Given the description of an element on the screen output the (x, y) to click on. 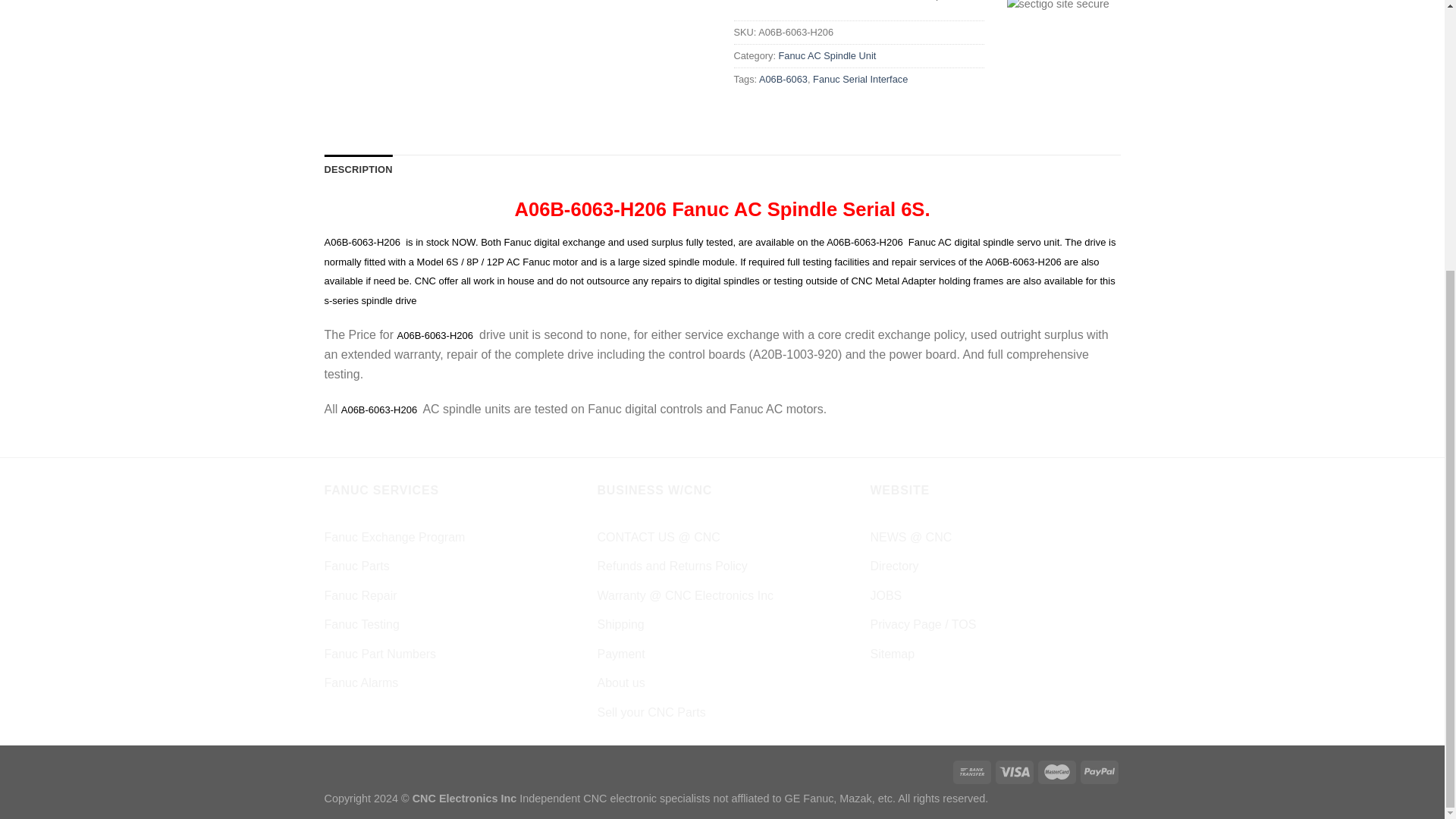
Fanuc Serial Interface (859, 79)
A06B-6063 (783, 79)
Fanuc AC Spindle Unit (827, 55)
